Given the description of an element on the screen output the (x, y) to click on. 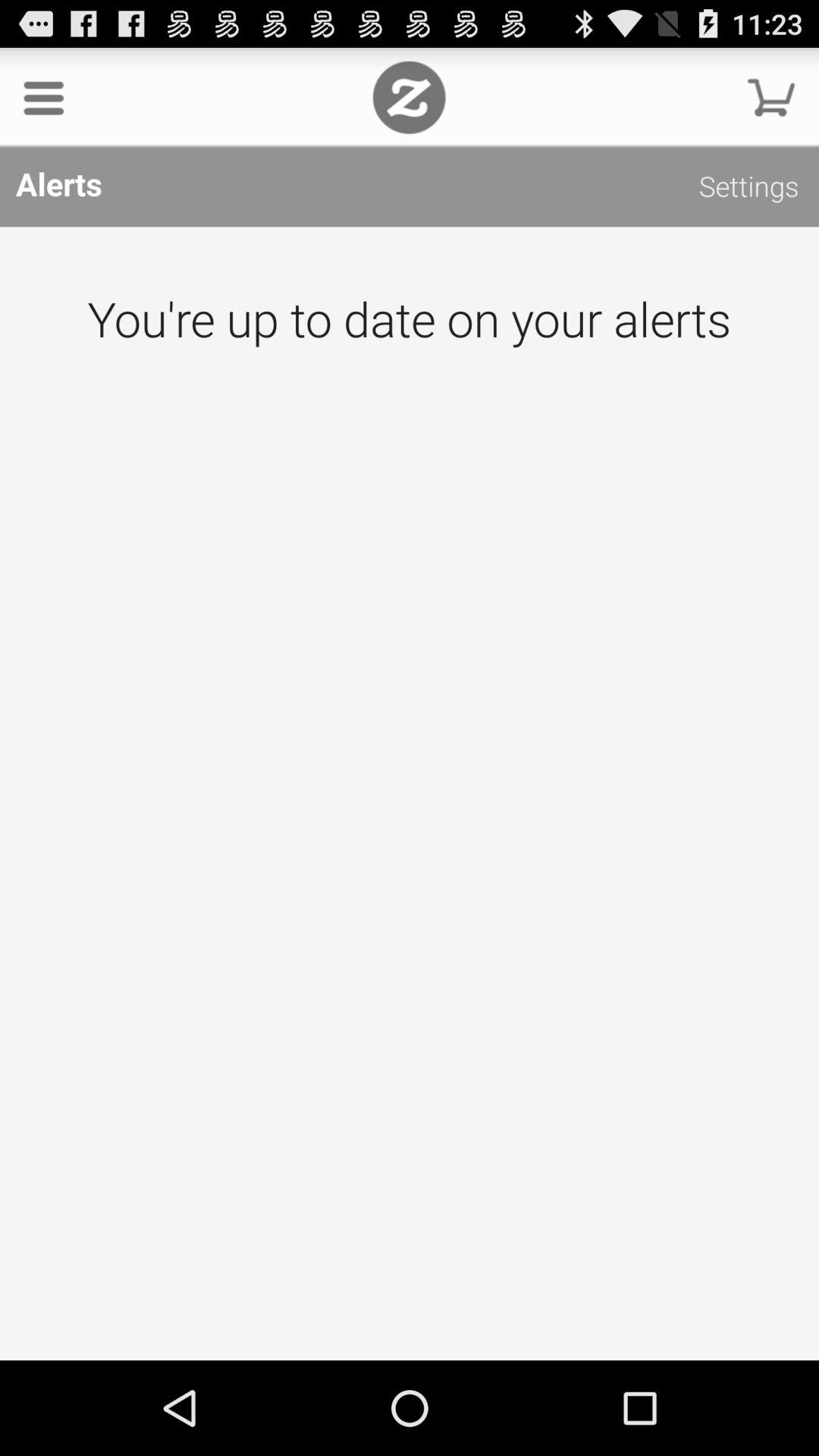
press icon above the you re up icon (749, 189)
